Given the description of an element on the screen output the (x, y) to click on. 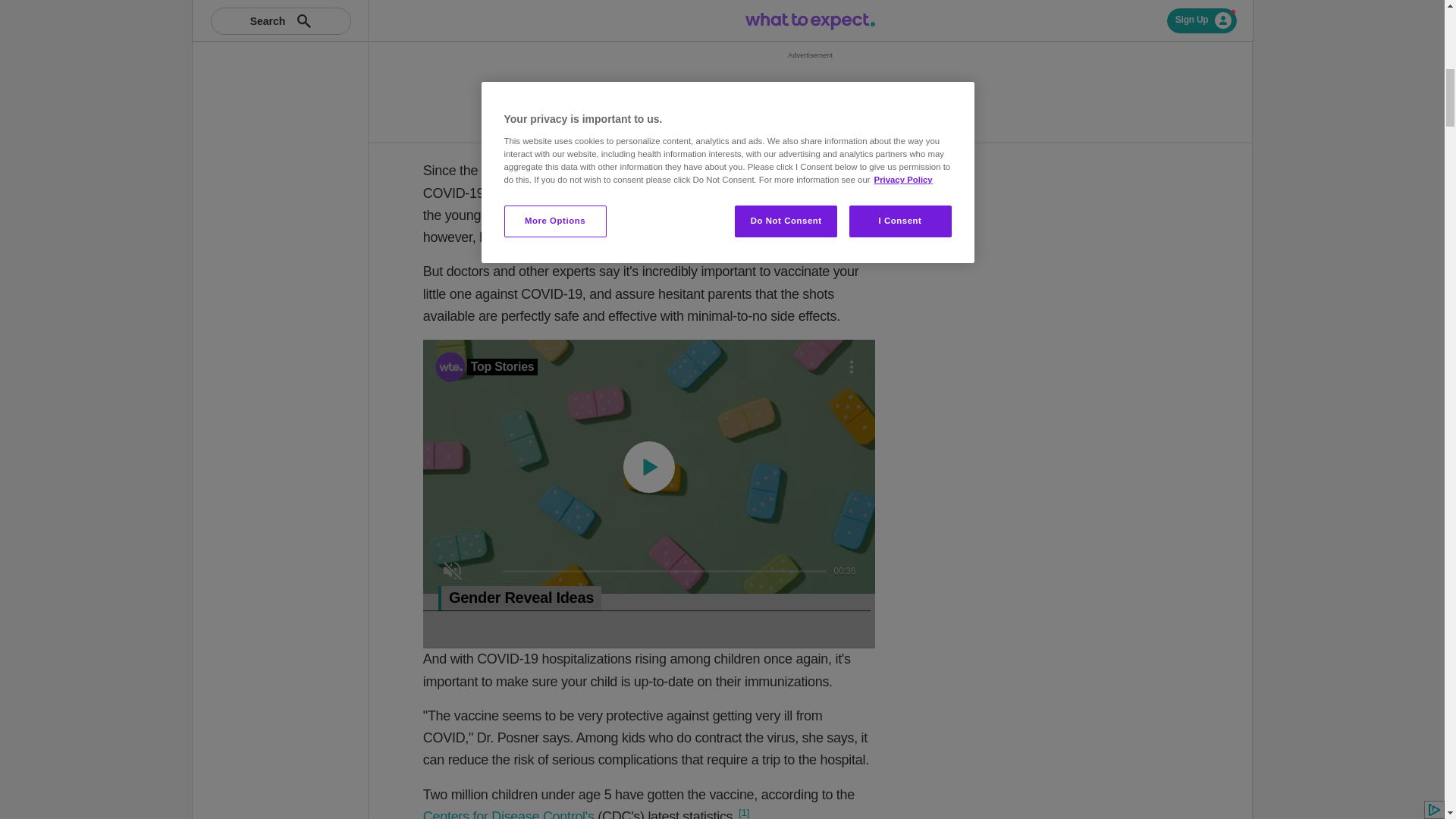
Gender Reveal Ideas (646, 598)
